Given the description of an element on the screen output the (x, y) to click on. 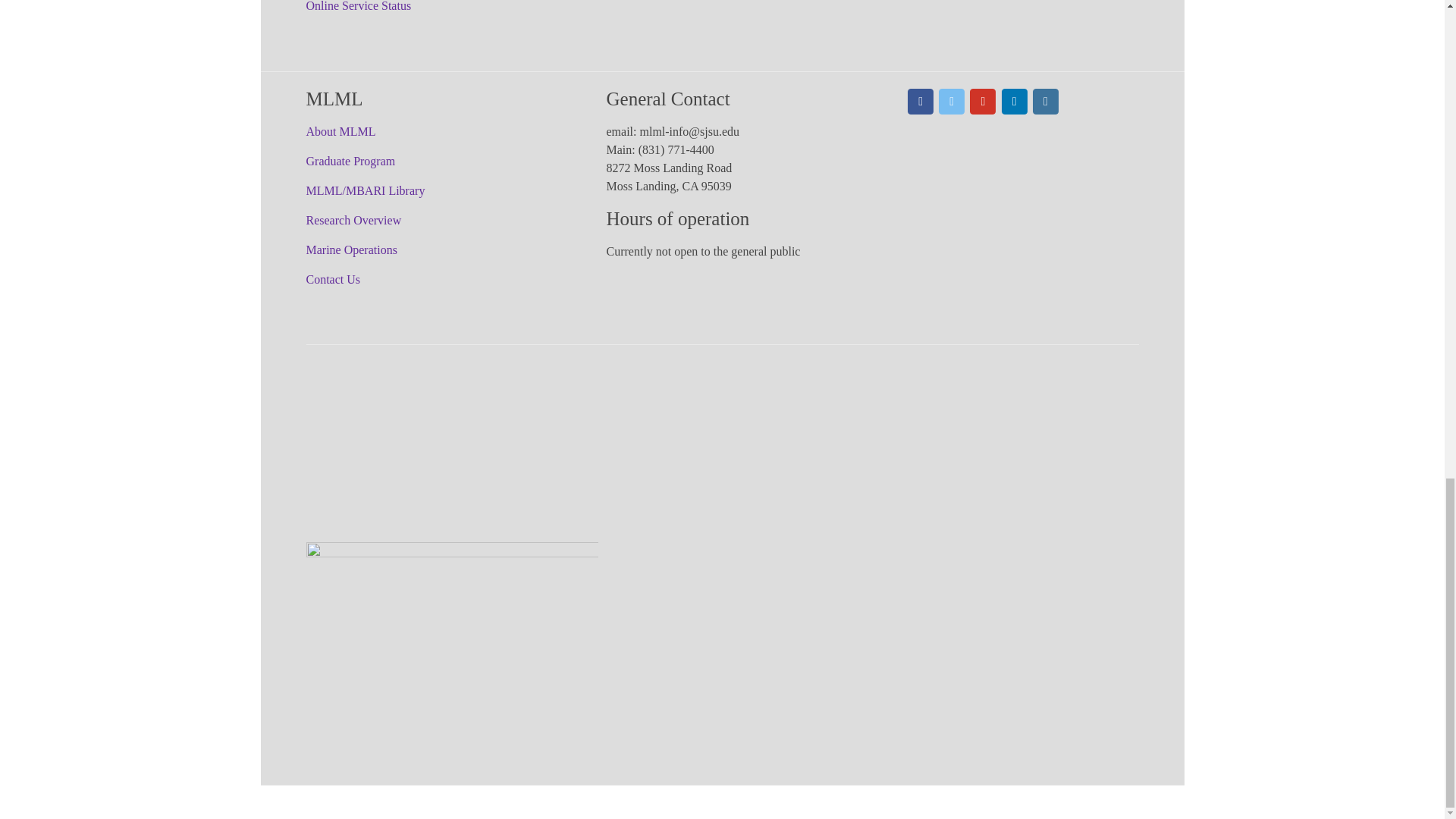
Moss Landing Marine Laboratories on Facebook (920, 101)
